Given the description of an element on the screen output the (x, y) to click on. 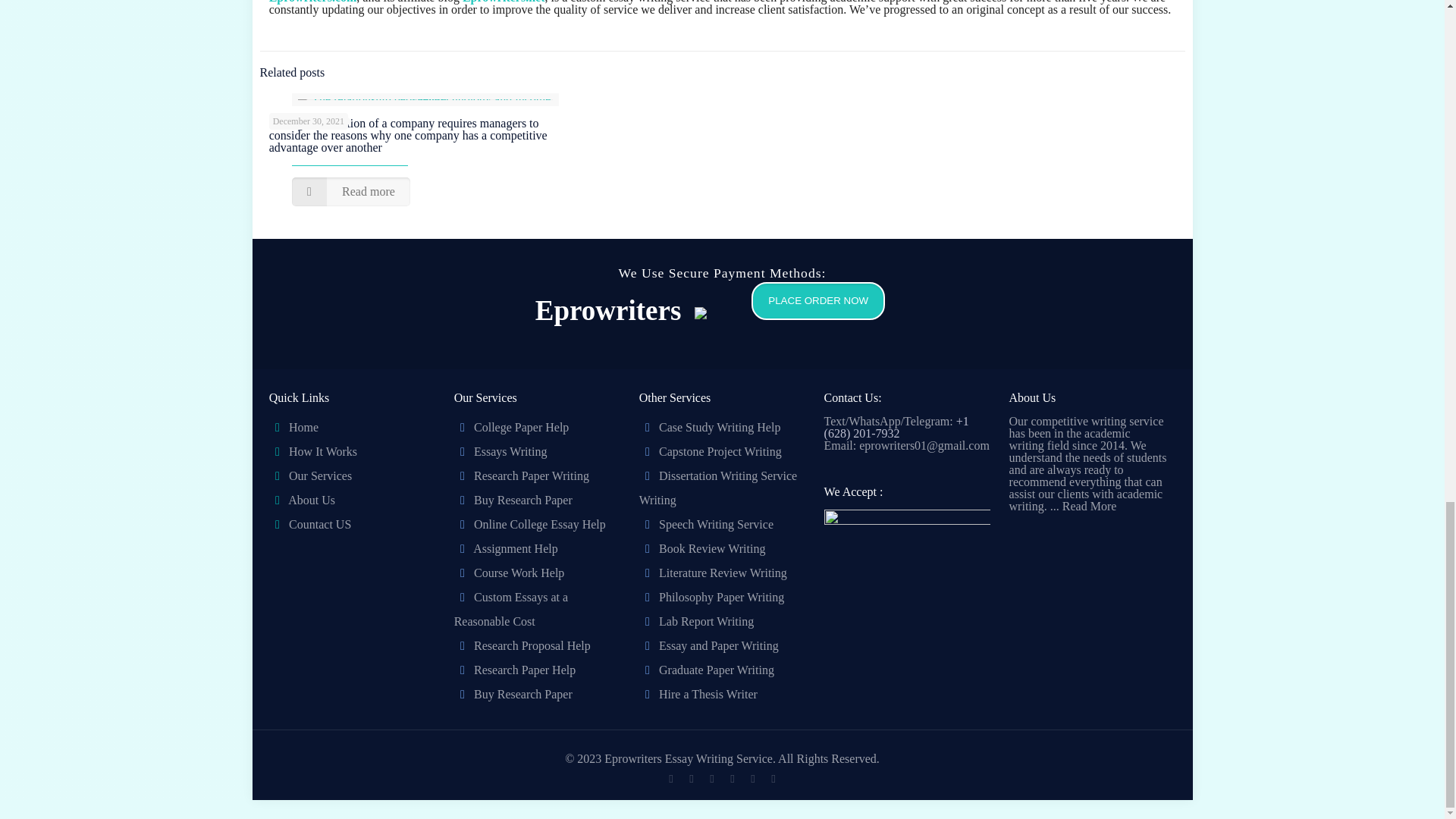
WhatsApp (670, 778)
Instagram (752, 778)
Eprowriters.com (312, 2)
Eprowriters.net (503, 2)
How It Works (322, 451)
Our Services (320, 475)
LinkedIn (731, 778)
Read more (351, 191)
PLACE ORDER NOW (809, 313)
